Given the description of an element on the screen output the (x, y) to click on. 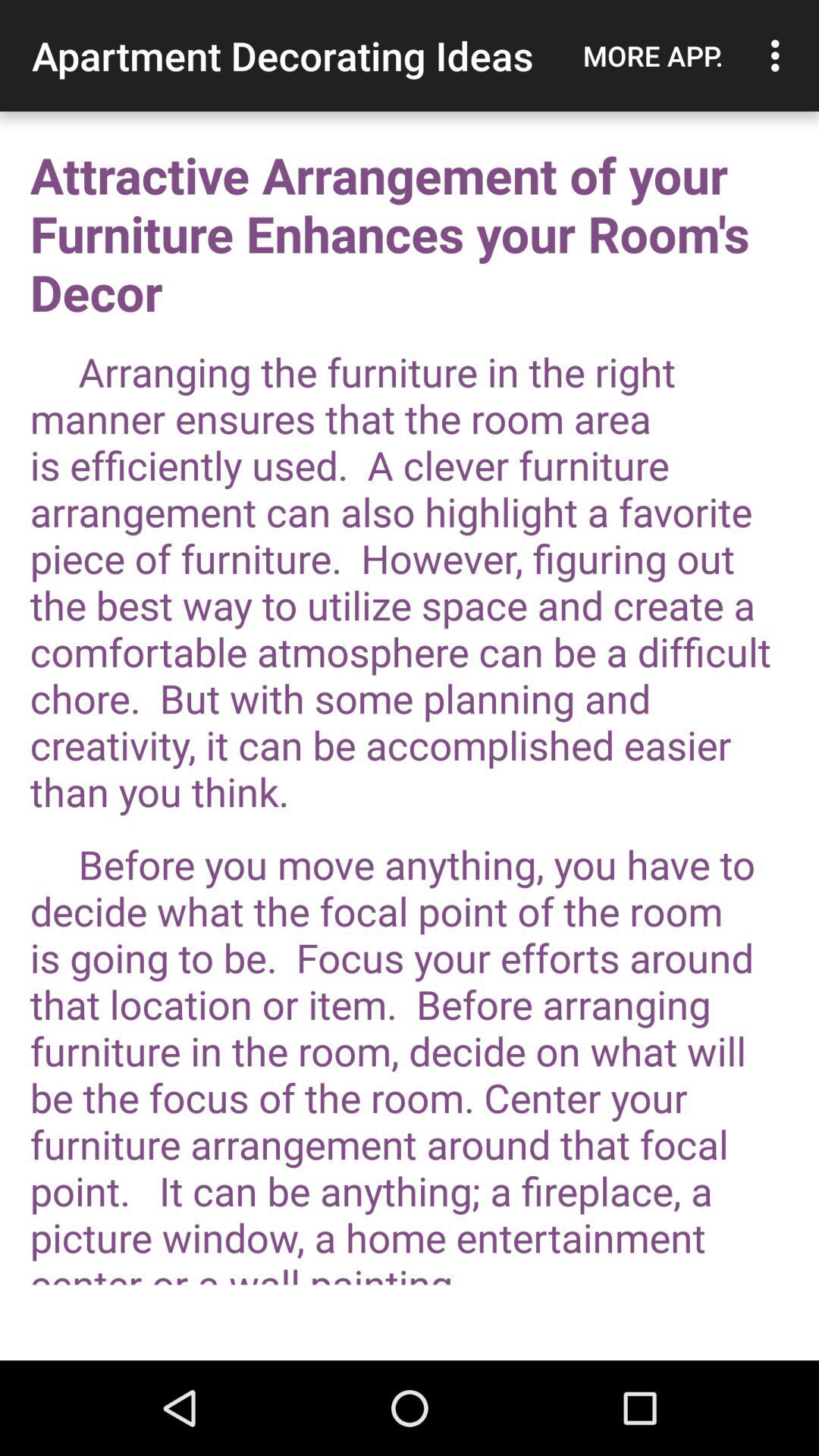
click the item above the attractive arrangement of (779, 55)
